Given the description of an element on the screen output the (x, y) to click on. 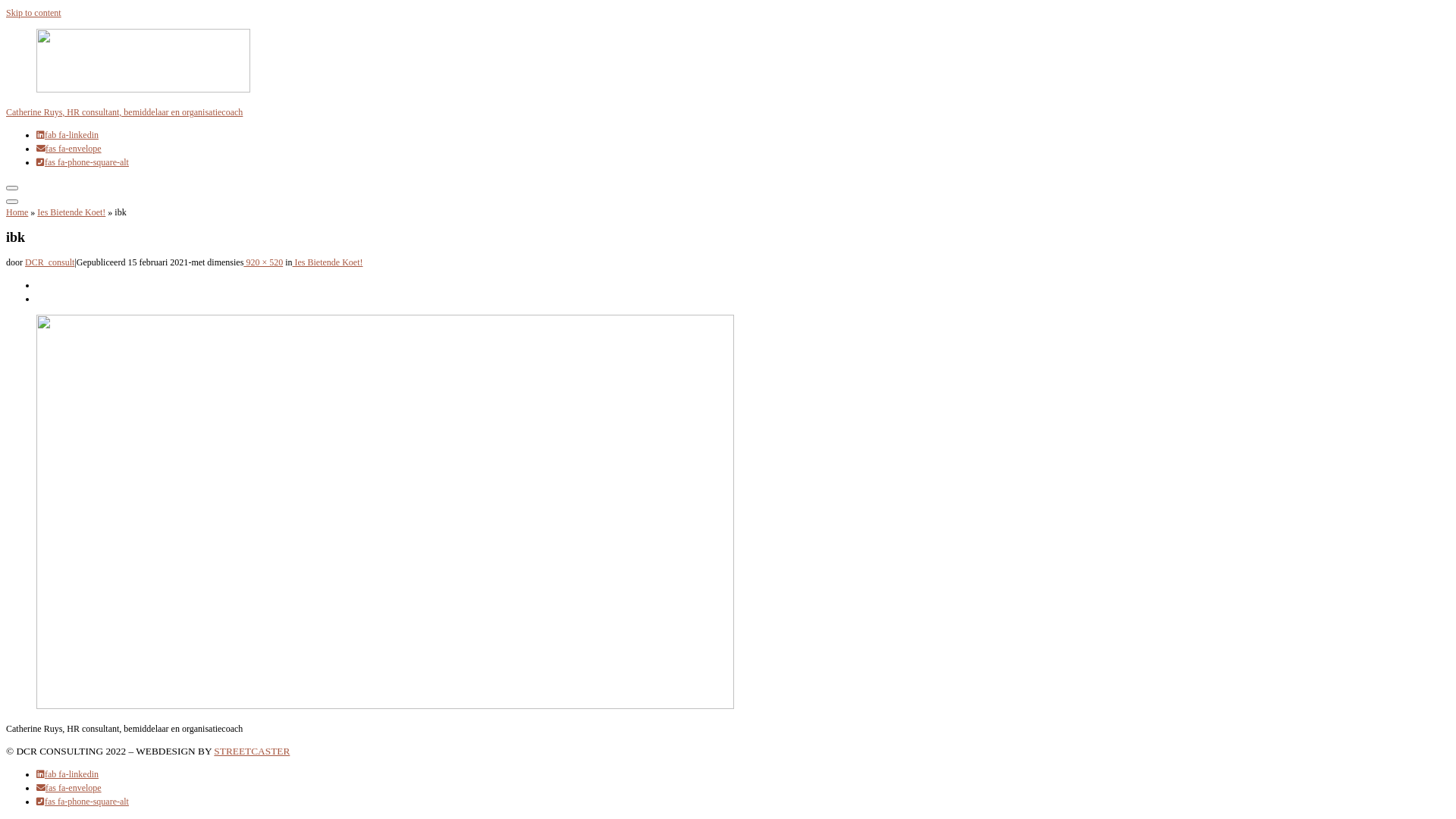
fas fa-envelope Element type: text (68, 148)
fas fa-phone-square-alt Element type: text (82, 801)
DCR_consult Element type: text (49, 262)
dcr-logo Element type: hover (727, 62)
Ies Bietende Koet! Element type: text (71, 212)
fas fa-envelope Element type: text (68, 787)
Home Element type: text (17, 212)
STREETCASTER Element type: text (251, 750)
Ies Bietende Koet! Element type: text (327, 262)
fab fa-linkedin Element type: text (67, 134)
fab fa-linkedin Element type: text (67, 773)
Skip to content Element type: text (33, 12)
fas fa-phone-square-alt Element type: text (82, 161)
